Given the description of an element on the screen output the (x, y) to click on. 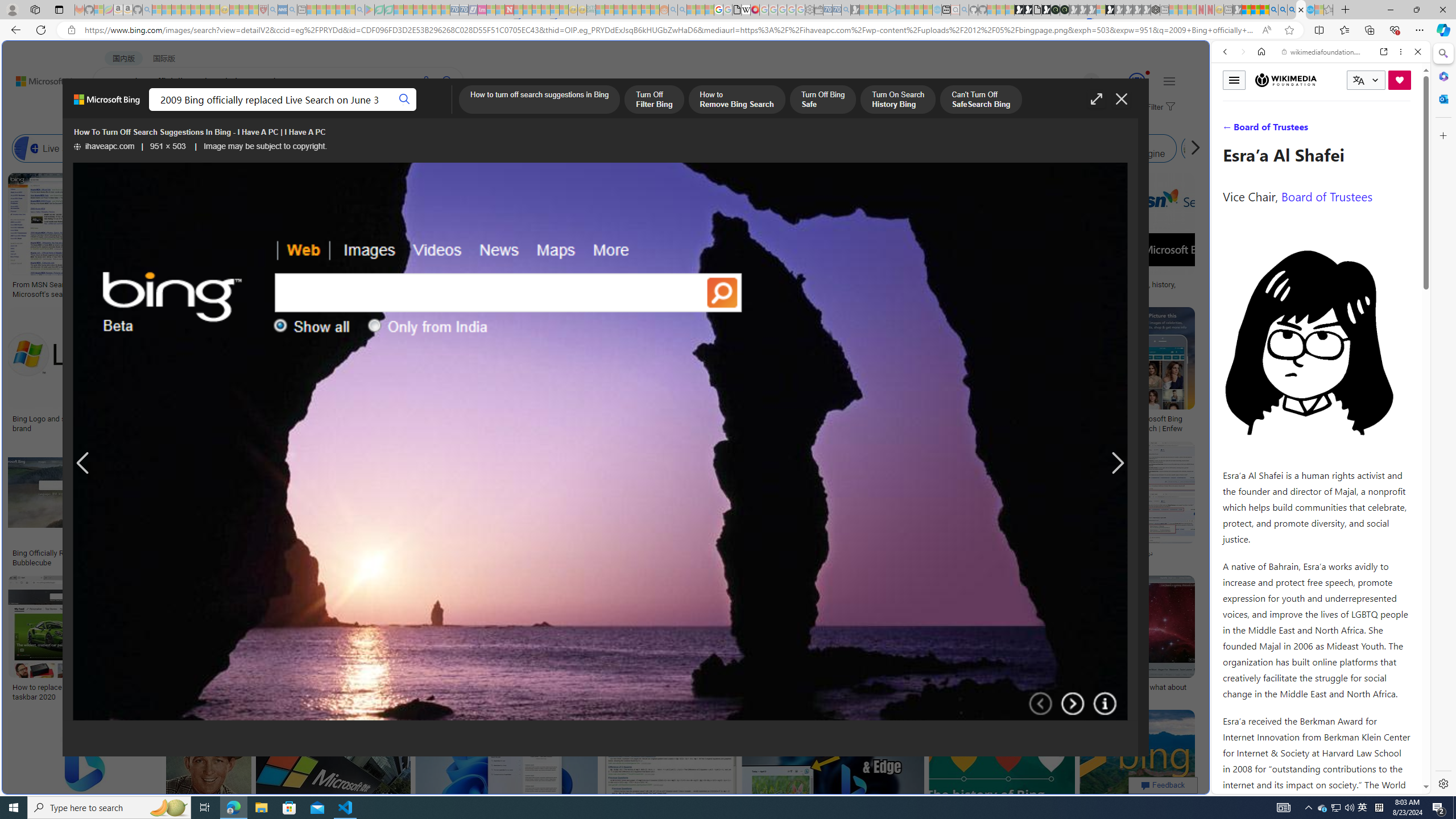
Bing Picture Search Engine (280, 148)
MSN - Sleeping (1236, 9)
ihaveapc.com (104, 146)
Bing Ai Search Engine Powered (472, 148)
Bing Logo, symbol, meaning, history, PNG, brand (1124, 289)
Image may be subject to copyright. (265, 146)
